Given the description of an element on the screen output the (x, y) to click on. 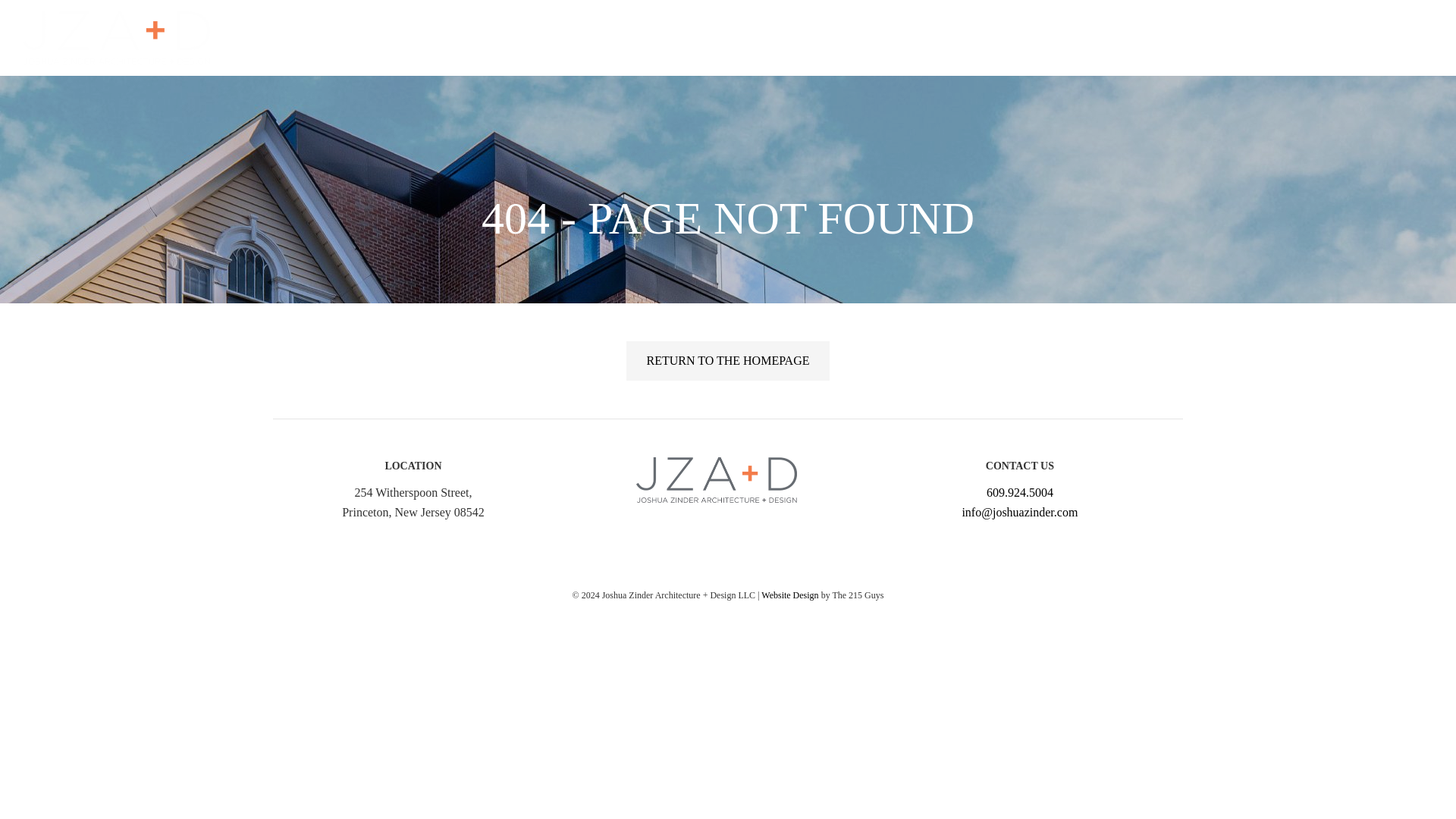
PORTFOLIO (1161, 38)
RETURN TO THE HOMEPAGE (727, 360)
609.924.5004 (1019, 492)
MEDIA (1245, 38)
CONTACT (1344, 38)
Homepage Link - Logo (116, 38)
Website Design (789, 594)
ABOUT (1075, 38)
